Given the description of an element on the screen output the (x, y) to click on. 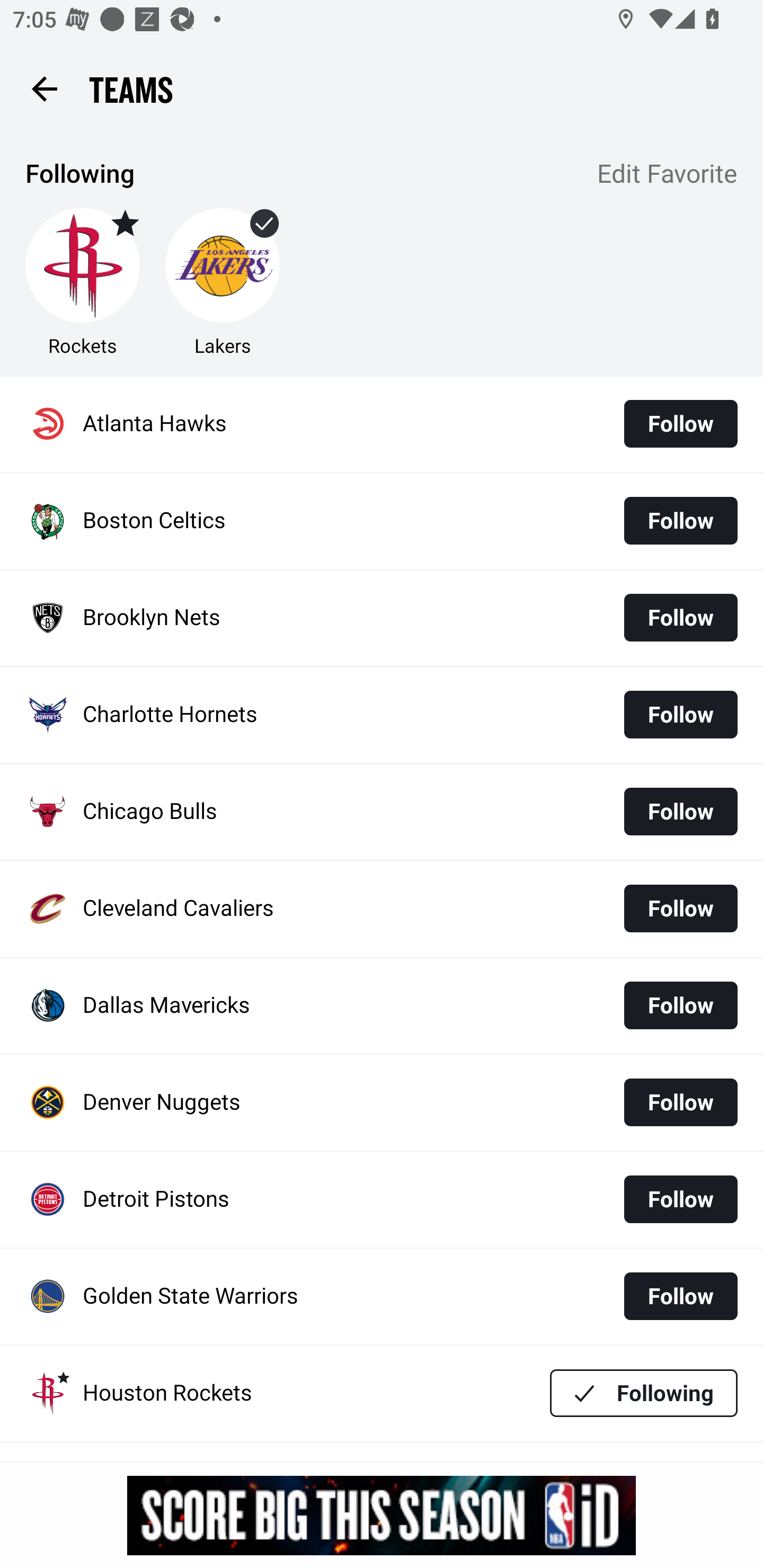
Back button (44, 88)
Edit Favorite (667, 175)
Atlanta Hawks Follow (381, 423)
Follow (680, 423)
Boston Celtics Follow (381, 521)
Follow (680, 520)
Brooklyn Nets Follow (381, 618)
Follow (680, 617)
Charlotte Hornets Follow (381, 714)
Follow (680, 713)
Chicago Bulls Follow (381, 812)
Follow (680, 811)
Cleveland Cavaliers Follow (381, 908)
Follow (680, 908)
Dallas Mavericks Follow (381, 1005)
Follow (680, 1005)
Denver Nuggets Follow (381, 1102)
Follow (680, 1101)
Detroit Pistons Follow (381, 1200)
Follow (680, 1199)
Golden State Warriors Follow (381, 1296)
Follow (680, 1295)
Houston Rockets Following (381, 1392)
Following (643, 1392)
g5nqqygr7owph (381, 1515)
